Given the description of an element on the screen output the (x, y) to click on. 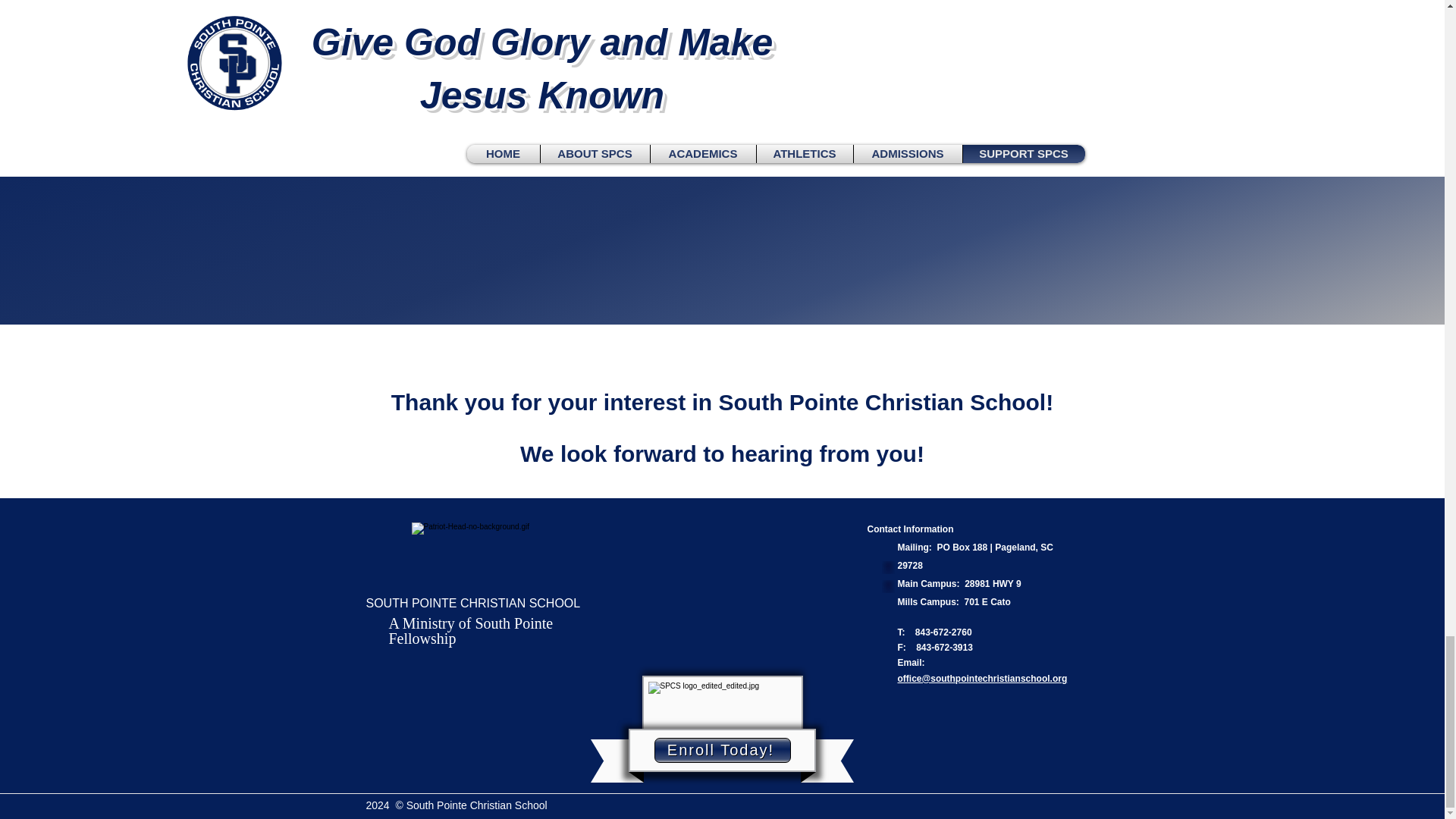
South Pointe Fellowship (470, 630)
Enroll Today! (721, 749)
map (886, 566)
map (886, 586)
